Given the description of an element on the screen output the (x, y) to click on. 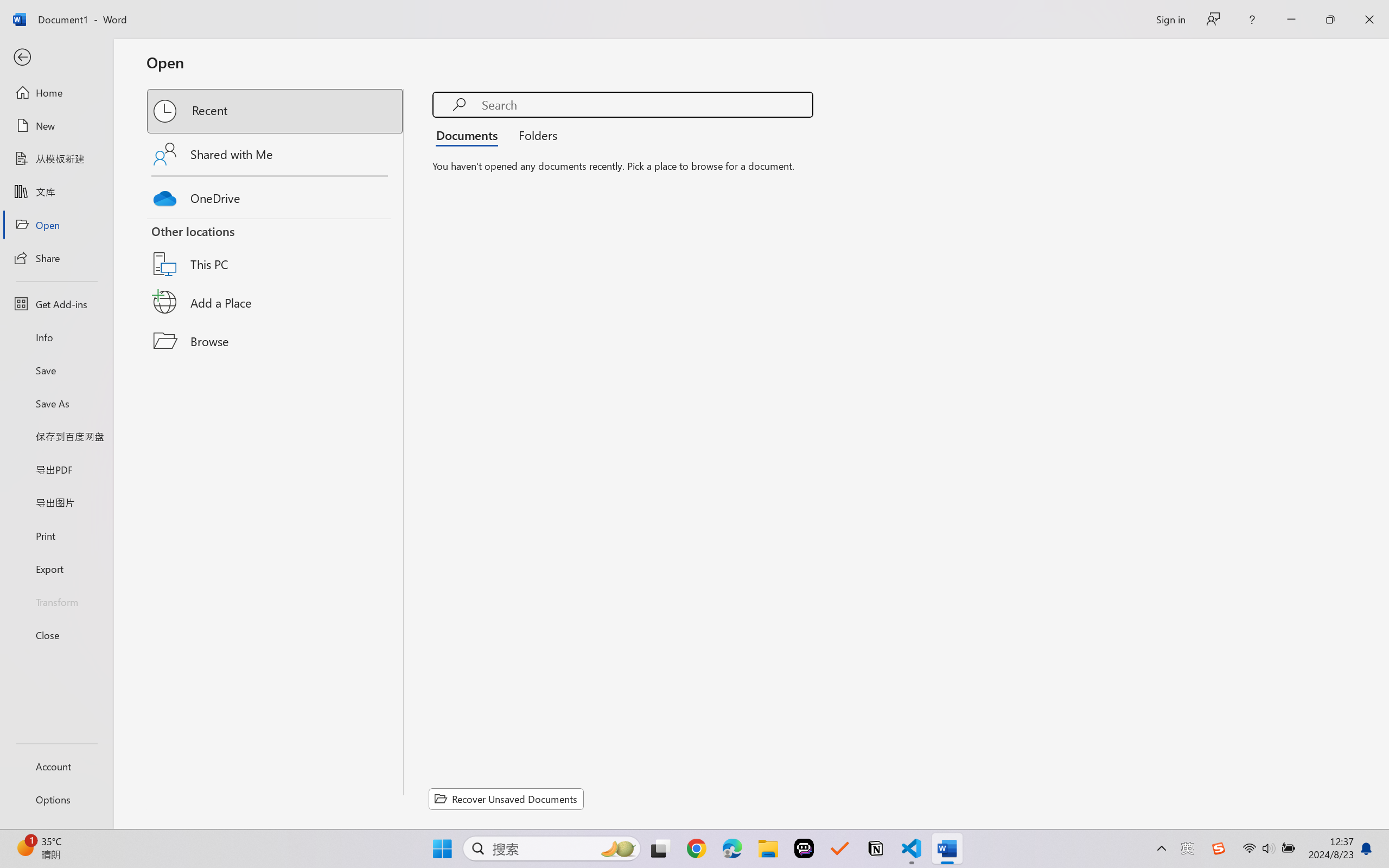
Print (56, 535)
Info (56, 337)
Add a Place (275, 302)
Folders (534, 134)
Documents (469, 134)
